Given the description of an element on the screen output the (x, y) to click on. 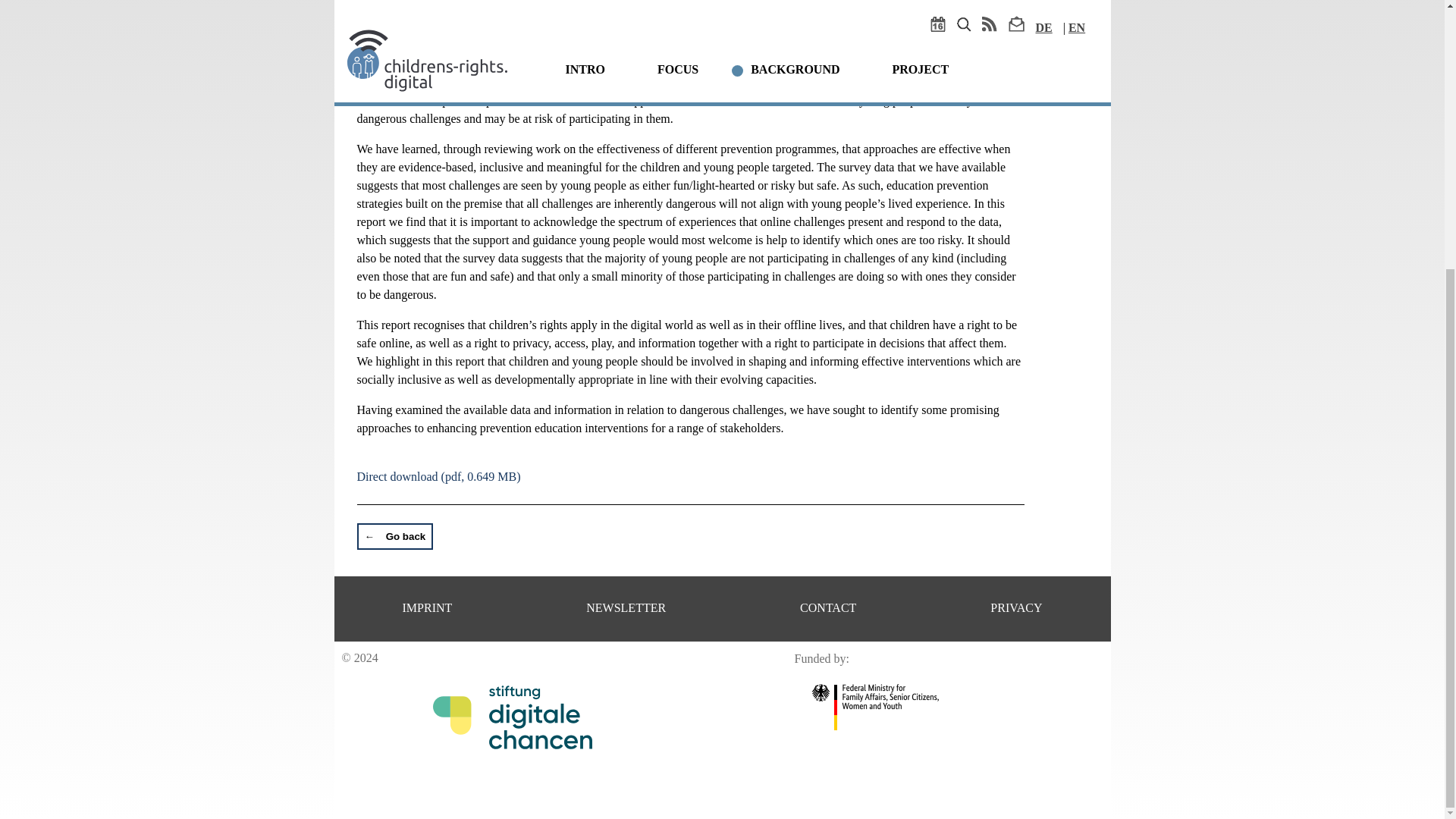
IMPRINT (426, 607)
PRIVACY (1016, 607)
NEWSLETTER (625, 607)
CONTACT (827, 607)
